Given the description of an element on the screen output the (x, y) to click on. 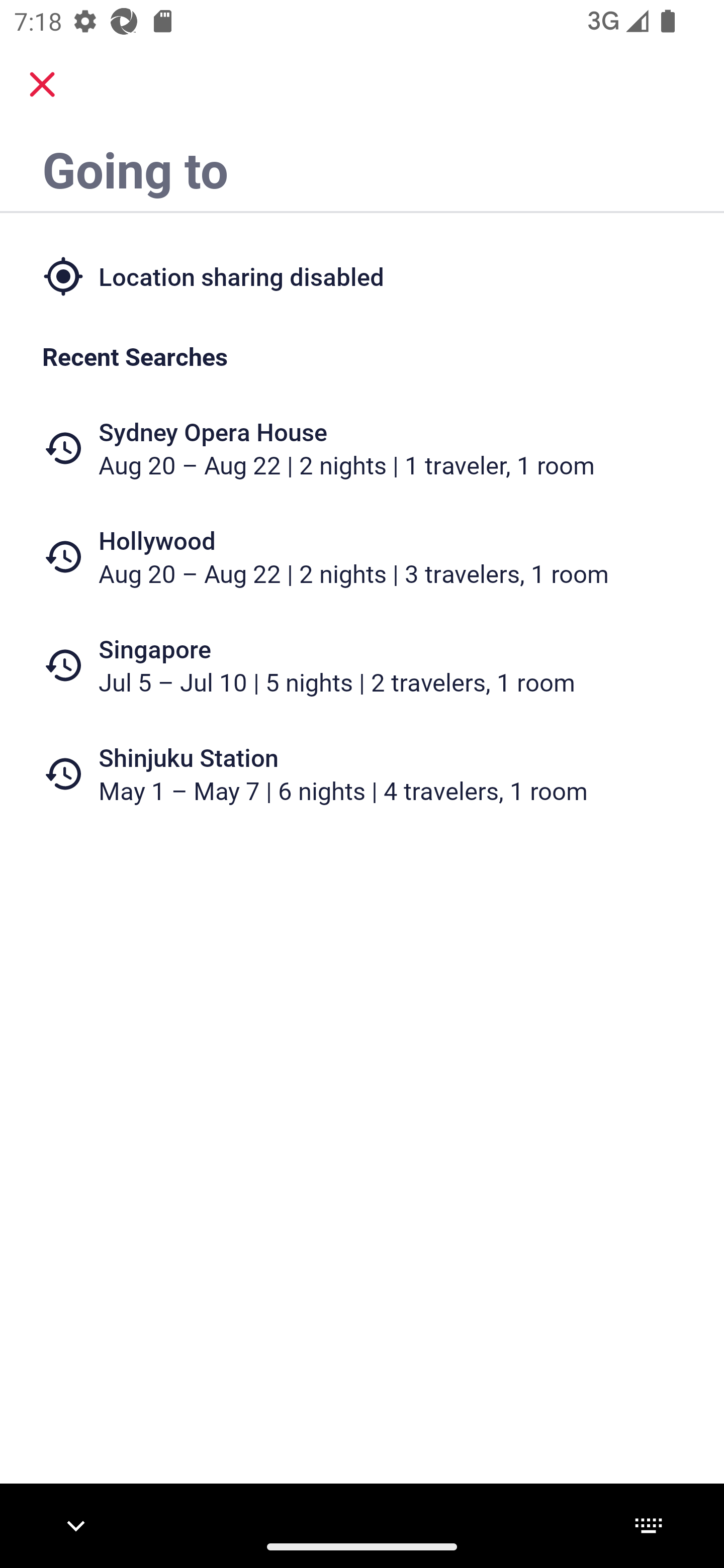
close. (42, 84)
Location sharing disabled (362, 275)
